Given the description of an element on the screen output the (x, y) to click on. 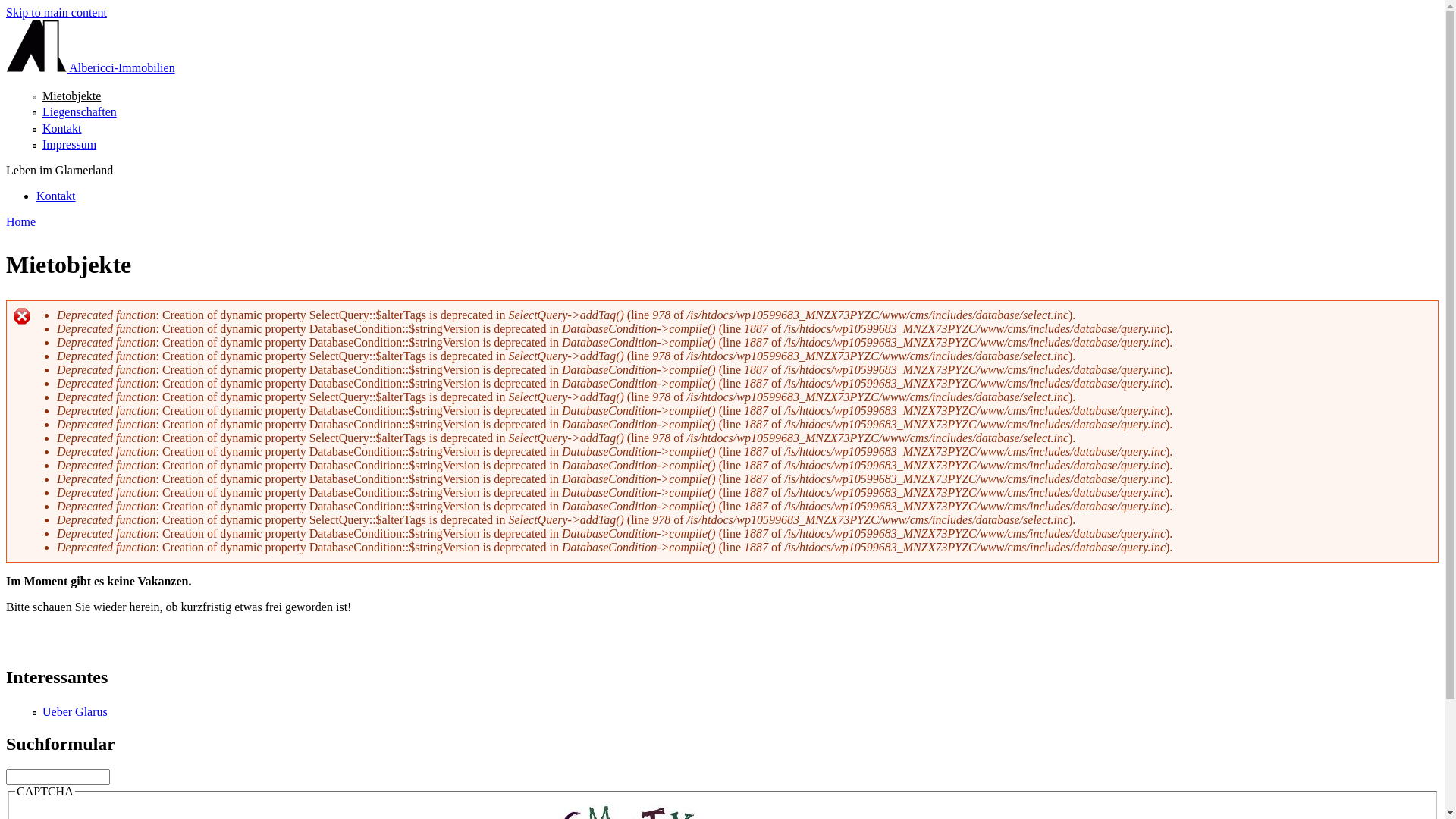
Mietobjekte Element type: text (71, 95)
Kontakt Element type: text (61, 128)
Albericci-Immobilien Element type: text (90, 67)
Kontakt Element type: text (55, 195)
Home Element type: text (20, 221)
Liegenschaften Element type: text (79, 111)
Ueber Glarus Element type: text (74, 711)
Enter the terms you wish to search for. Element type: hover (57, 776)
Impressum Element type: text (69, 144)
Skip to main content Element type: text (56, 12)
